Given the description of an element on the screen output the (x, y) to click on. 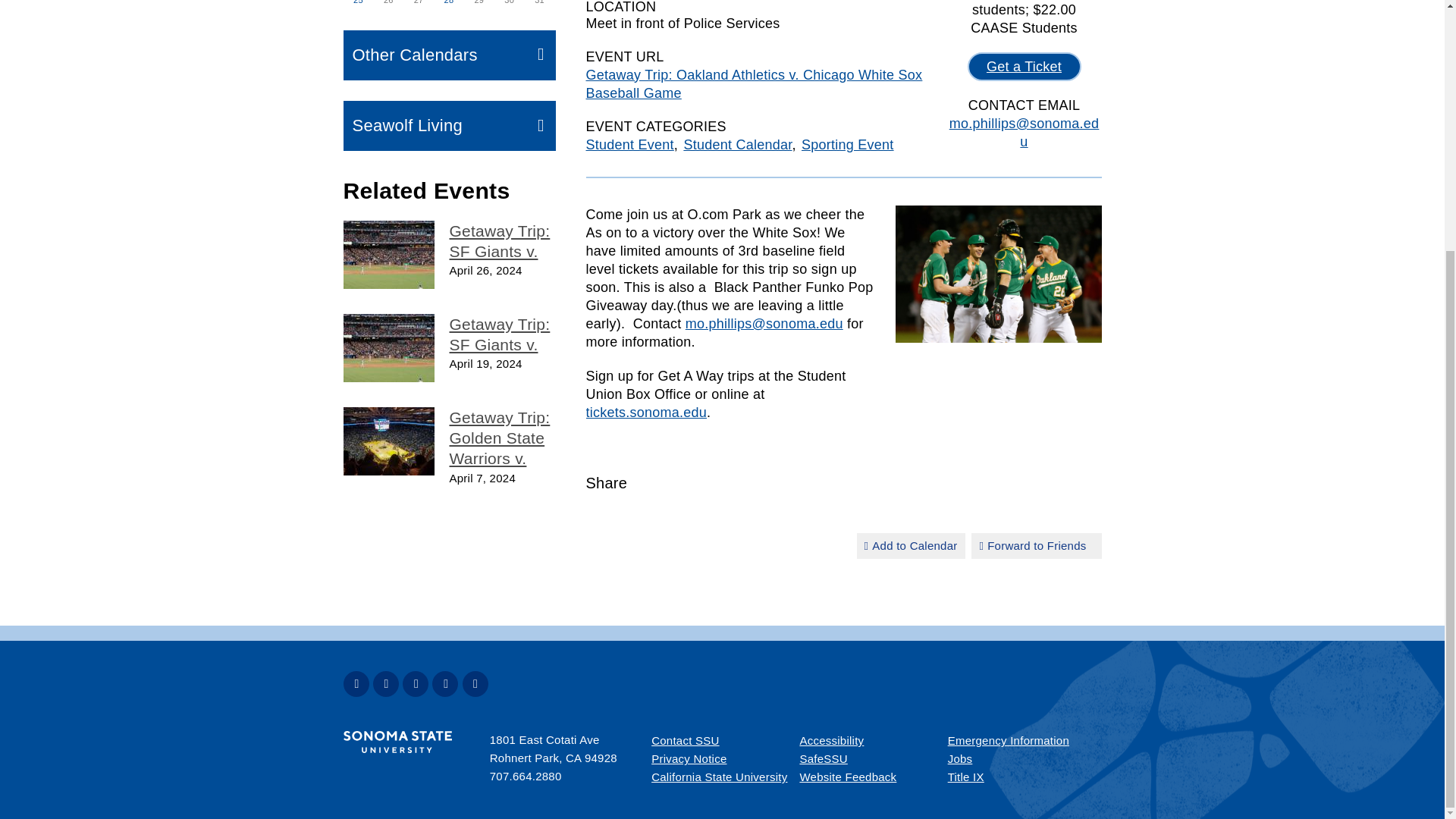
Oakland Athletics  (997, 274)
Baseball Game (387, 347)
Baseball Game (387, 254)
Golden State Warriors Stadium (387, 441)
